Given the description of an element on the screen output the (x, y) to click on. 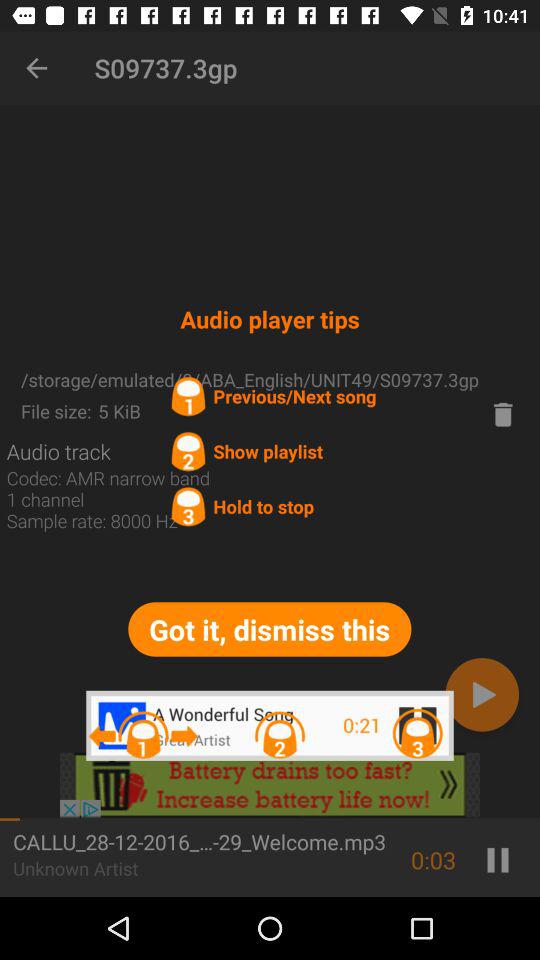
delete option (503, 414)
